Given the description of an element on the screen output the (x, y) to click on. 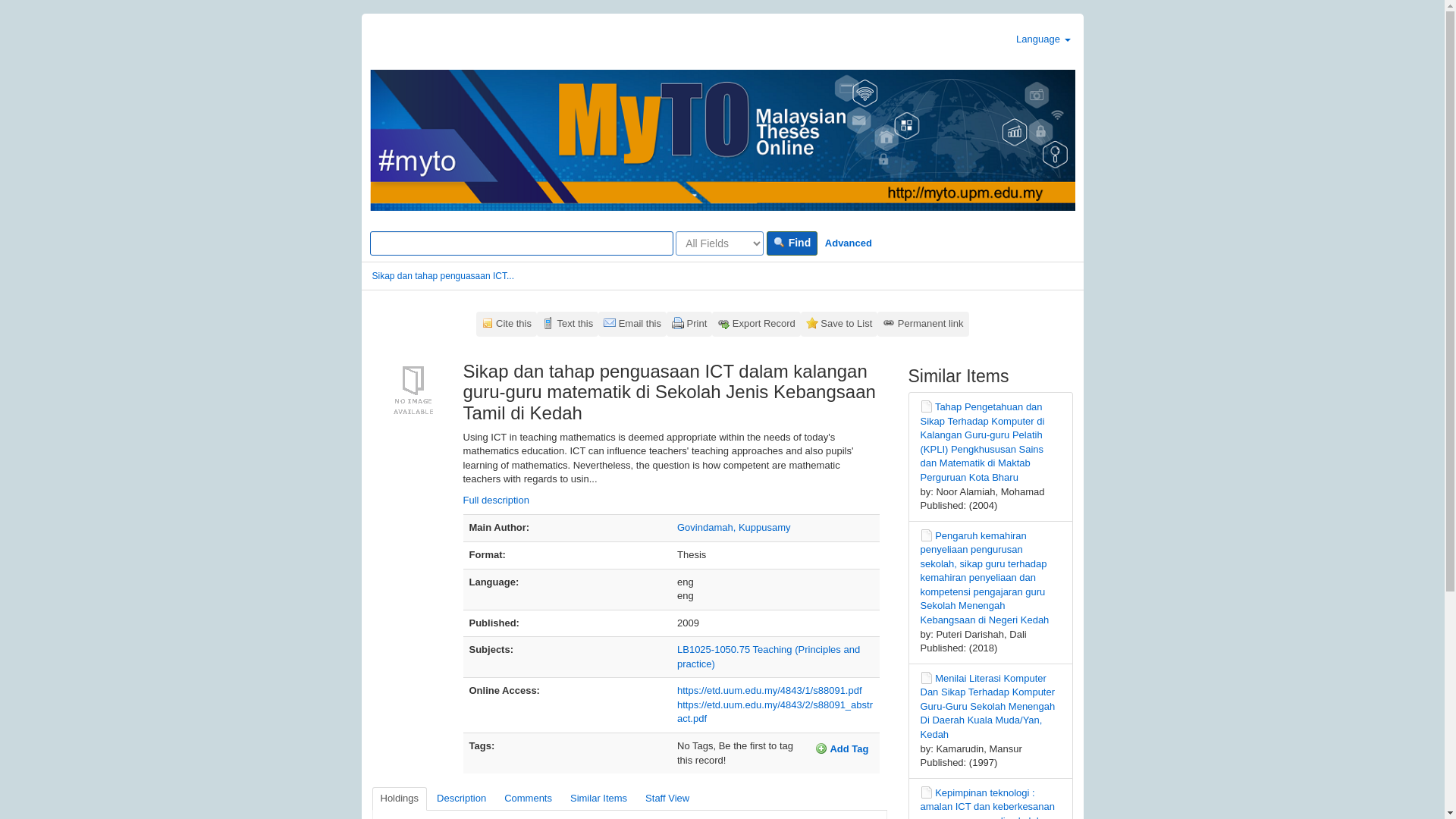
Staff View (667, 798)
Text this (567, 324)
Thesis (926, 792)
Email this (632, 324)
Thesis (926, 677)
Print (688, 324)
Thesis (926, 535)
Cite this (506, 324)
Comments (528, 798)
